Given the description of an element on the screen output the (x, y) to click on. 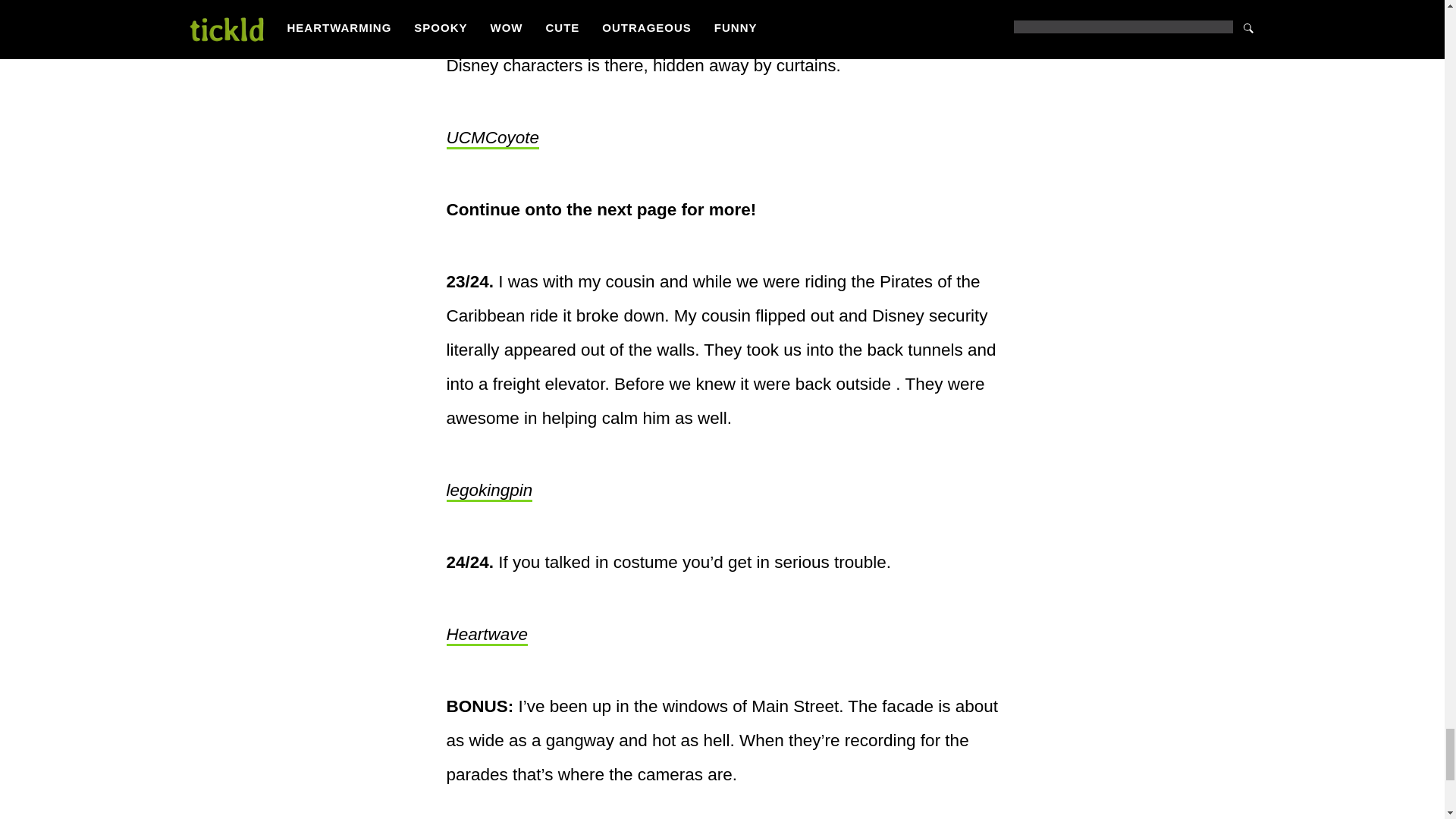
legokingpin (488, 491)
UCMCoyote (491, 138)
Heartwave (486, 635)
